Given the description of an element on the screen output the (x, y) to click on. 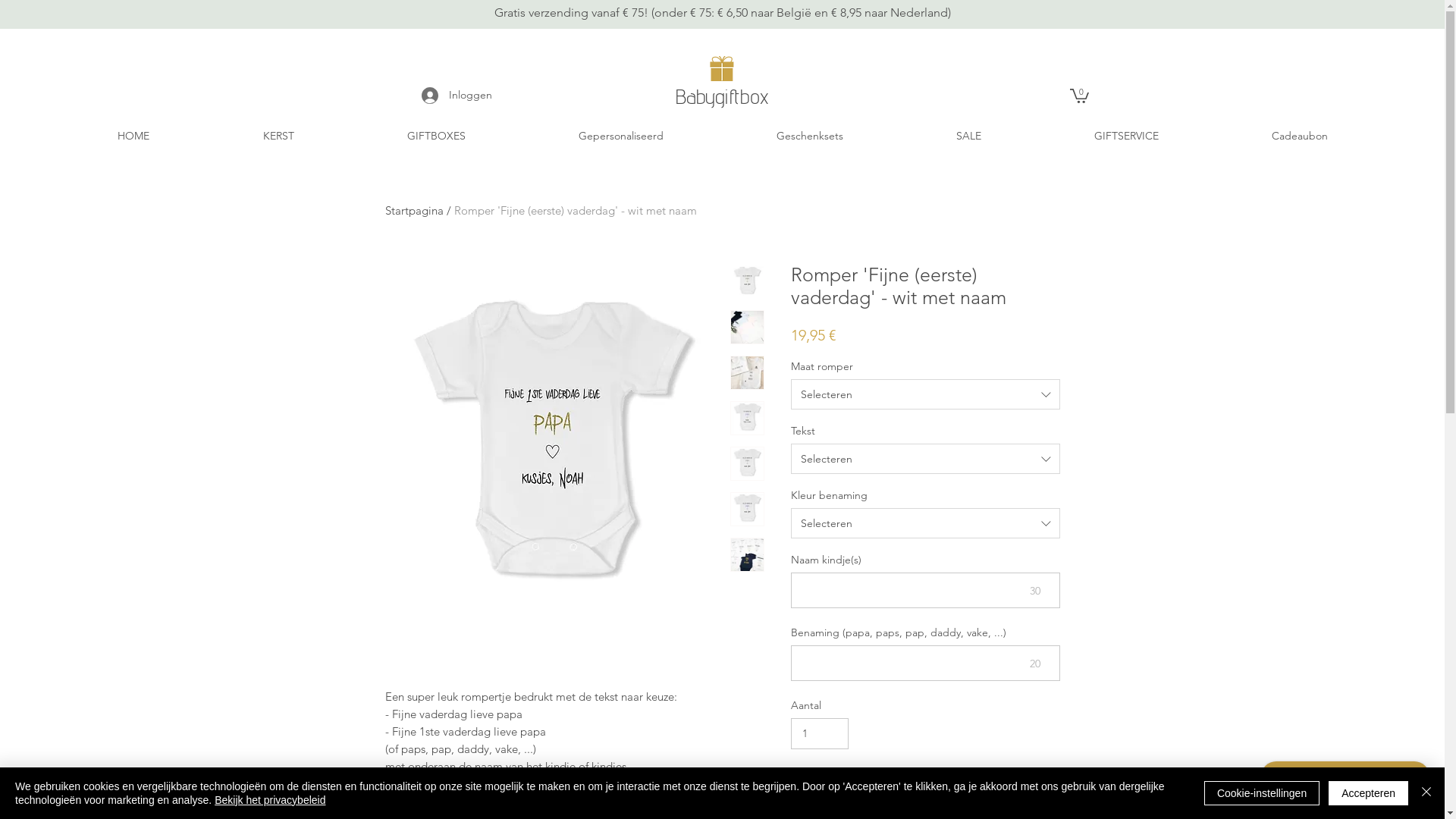
0 Element type: text (1078, 95)
Romper 'Fijne (eerste) vaderdag' - wit met naam Element type: text (574, 210)
GIFTBOXES Element type: text (435, 135)
Cookie-instellingen Element type: text (1261, 793)
SALE Element type: text (968, 135)
Cadeaubon Element type: text (1298, 135)
GIFTSERVICE Element type: text (1125, 135)
Inloggen Element type: text (456, 95)
In winkelwagen Element type: text (906, 788)
Babygiftbox Element type: text (721, 95)
Geschenksets Element type: text (809, 135)
Selecteren Element type: text (924, 394)
Startpagina Element type: text (414, 210)
Accepteren Element type: text (1368, 793)
Bekijk het privacybeleid Element type: text (269, 799)
Selecteren Element type: text (924, 458)
HOME Element type: text (133, 135)
Gepersonaliseerd Element type: text (620, 135)
Selecteren Element type: text (924, 523)
